Given the description of an element on the screen output the (x, y) to click on. 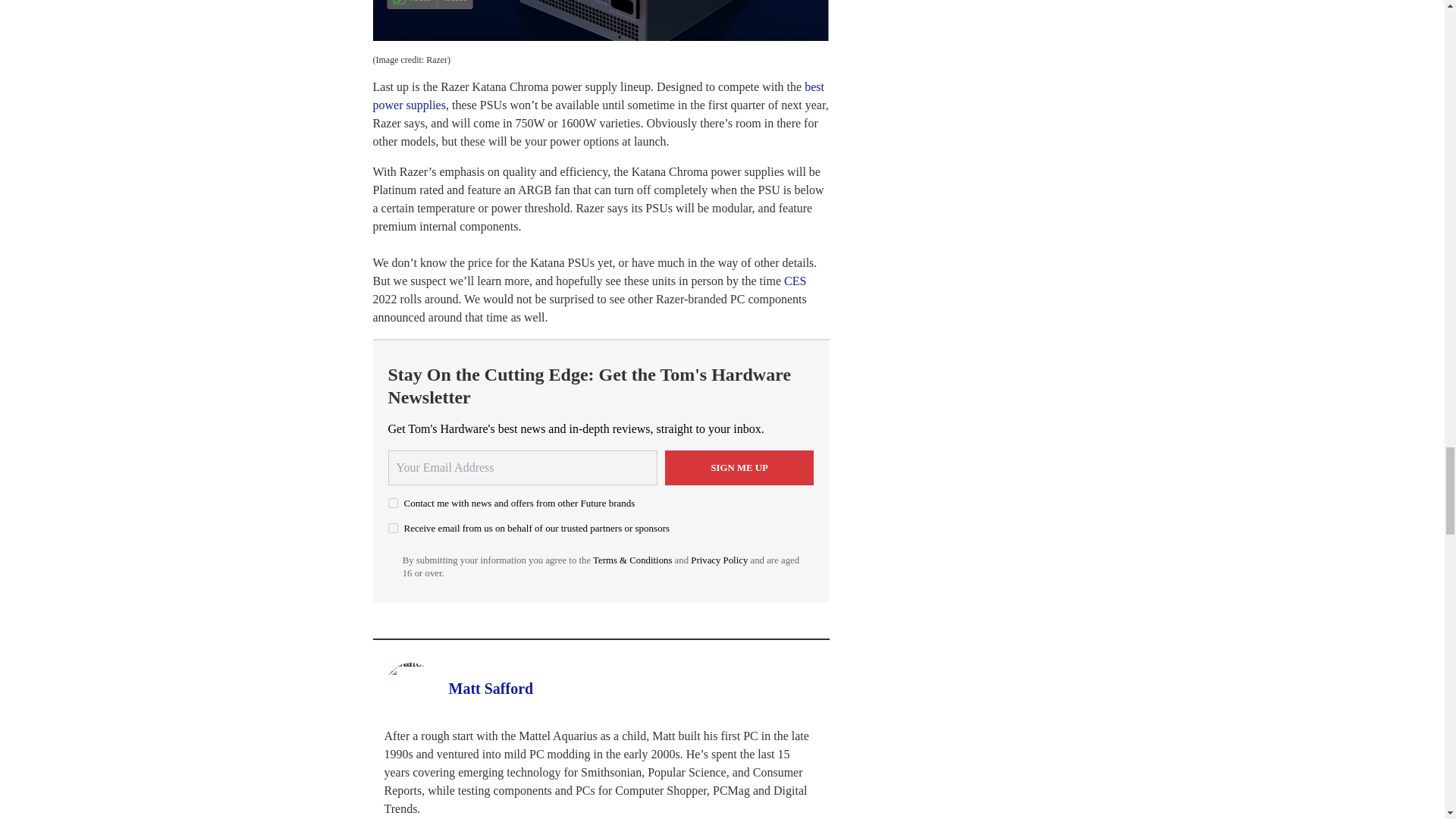
Sign me up (739, 467)
on (392, 528)
on (392, 502)
